Given the description of an element on the screen output the (x, y) to click on. 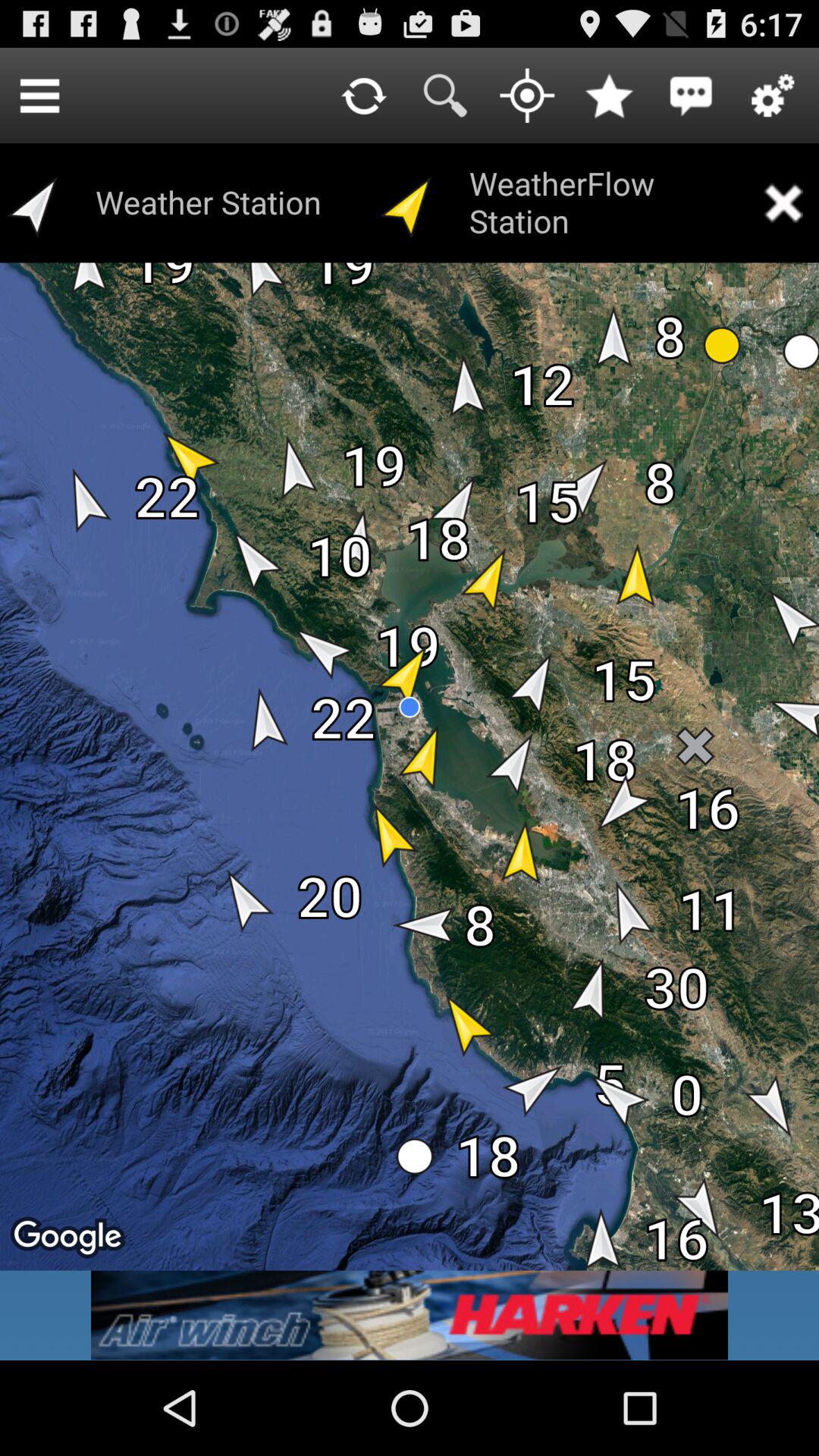
search the region that is shown (445, 95)
